Given the description of an element on the screen output the (x, y) to click on. 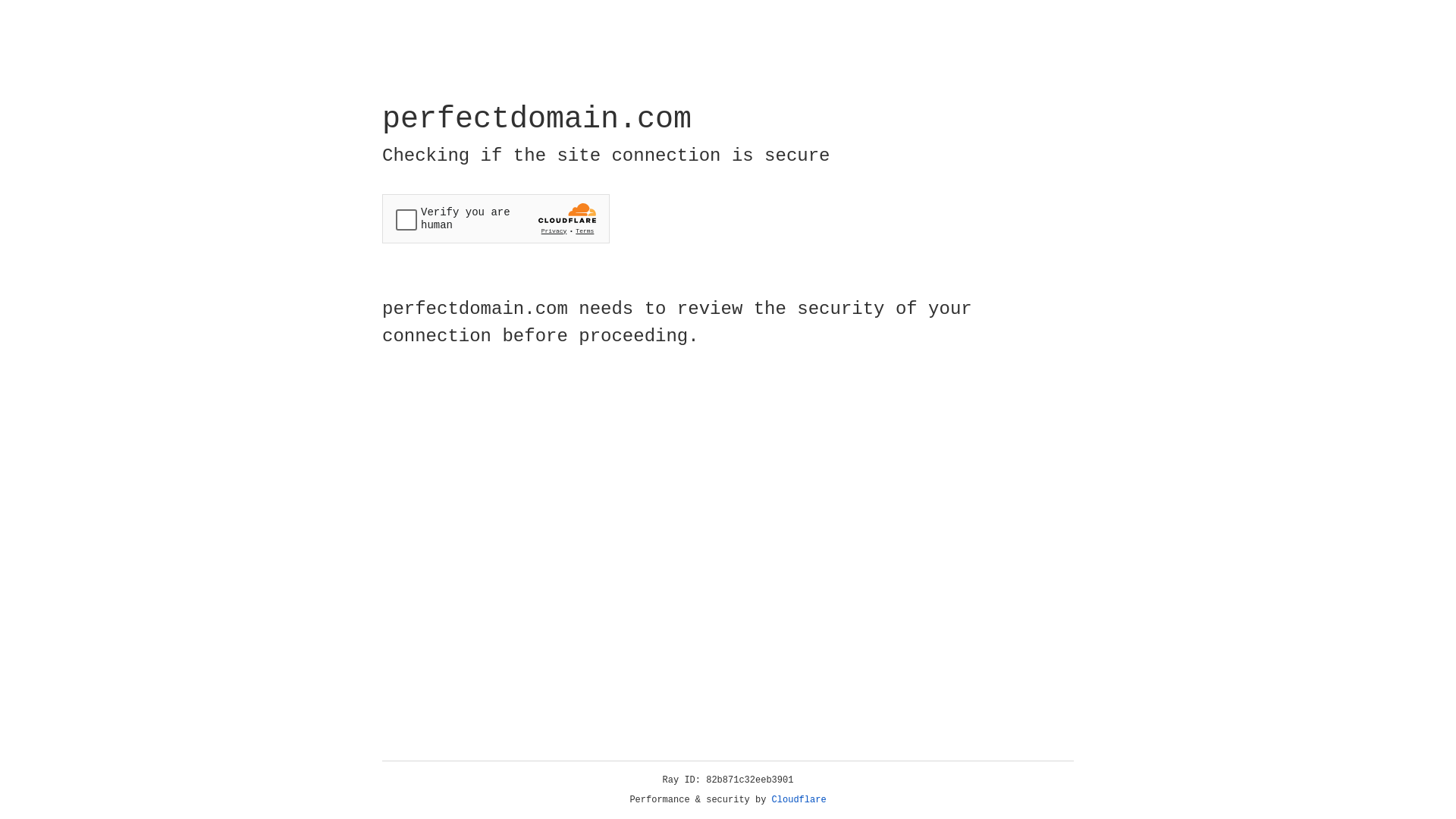
Widget containing a Cloudflare security challenge Element type: hover (495, 218)
Cloudflare Element type: text (798, 799)
